Given the description of an element on the screen output the (x, y) to click on. 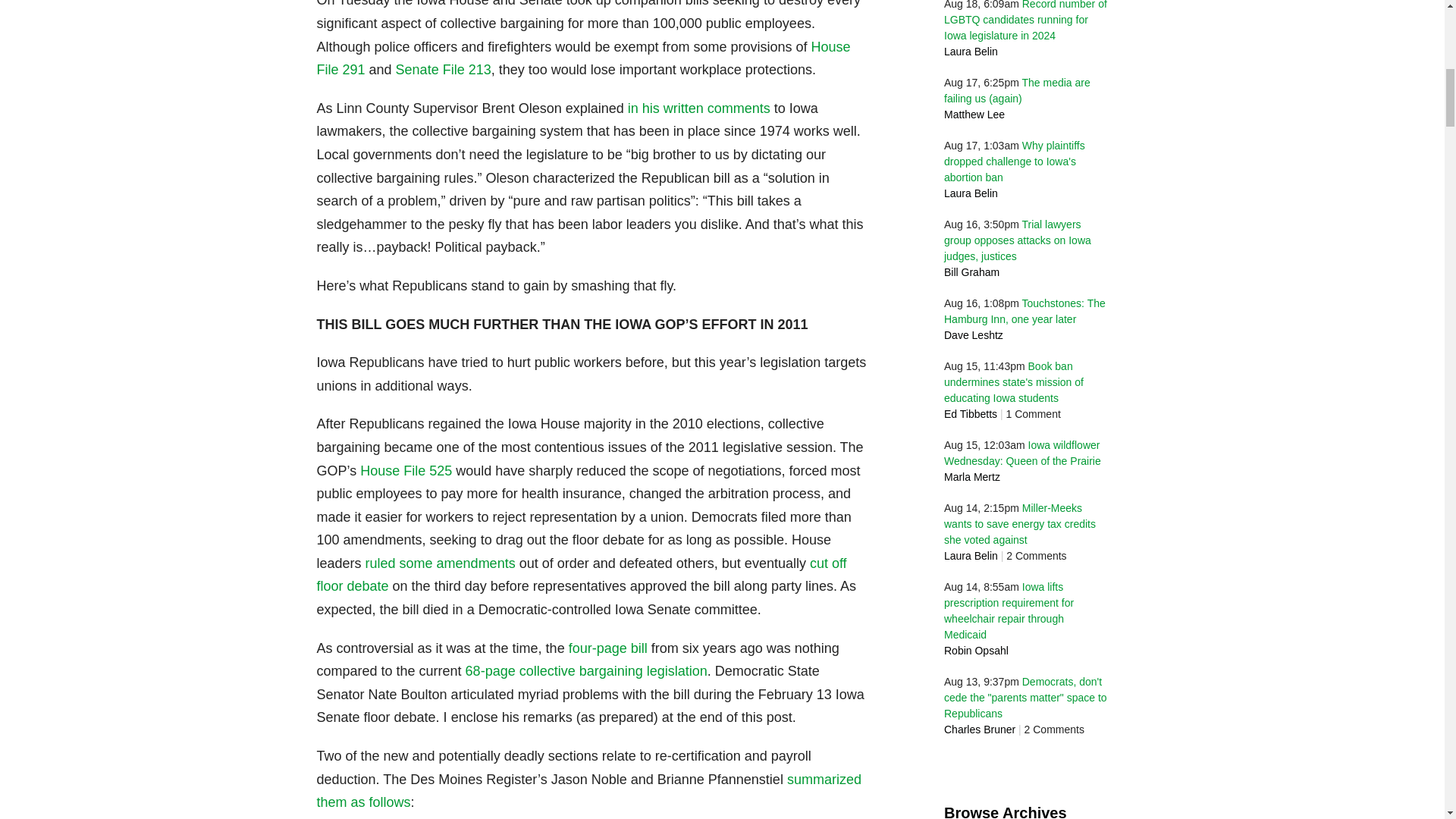
four-page bill (608, 648)
cut off floor debate (582, 575)
House File 525 (405, 469)
House File 291 (583, 58)
in his written comments (698, 108)
68-page collective bargaining legislation (586, 670)
summarized them as follows (589, 791)
Senate File 213 (444, 69)
ruled some amendments (440, 563)
